Given the description of an element on the screen output the (x, y) to click on. 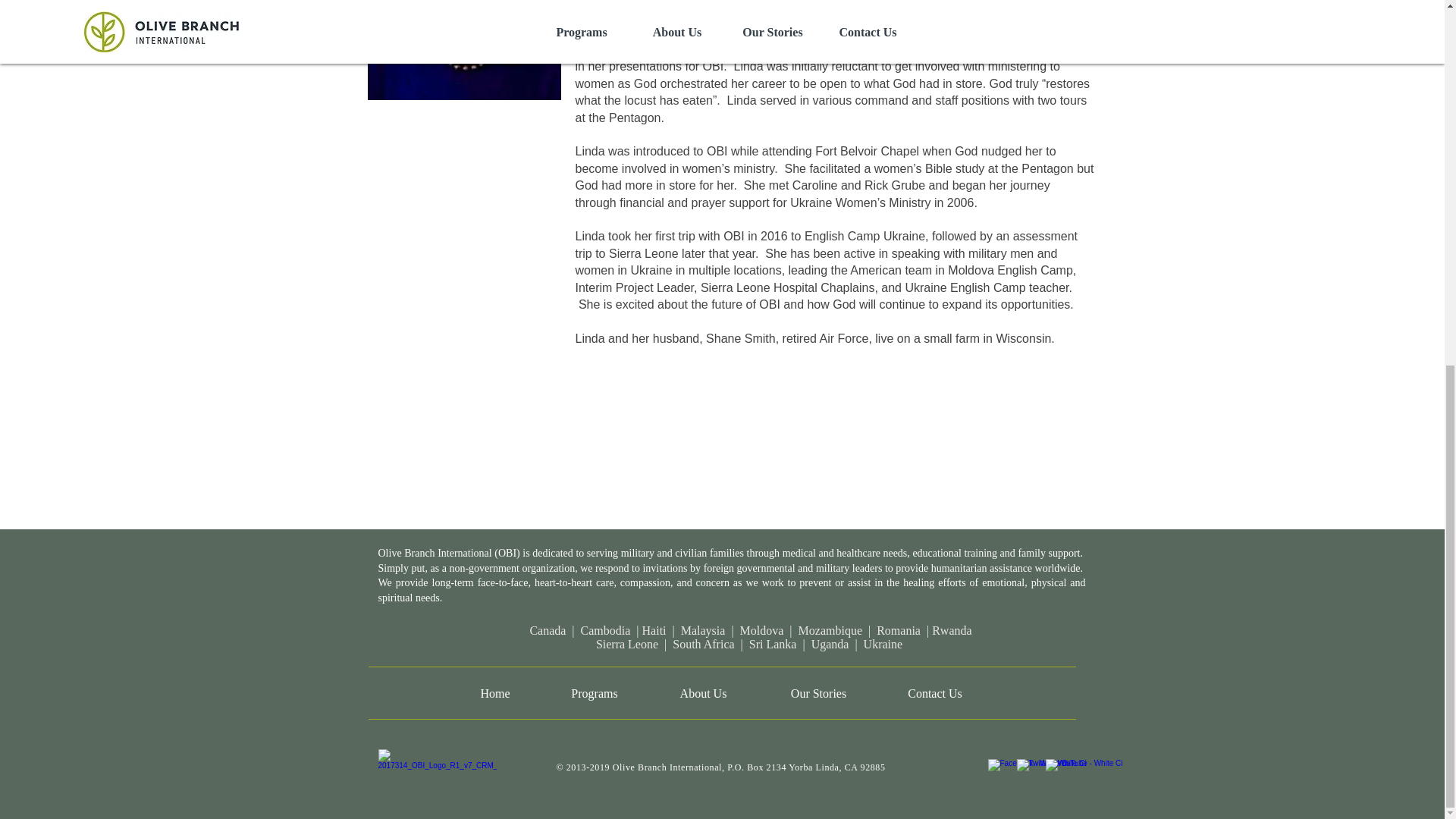
Programs (593, 693)
Home (494, 693)
Contact Us (934, 693)
Our Stories (817, 693)
About Us (702, 693)
